Given the description of an element on the screen output the (x, y) to click on. 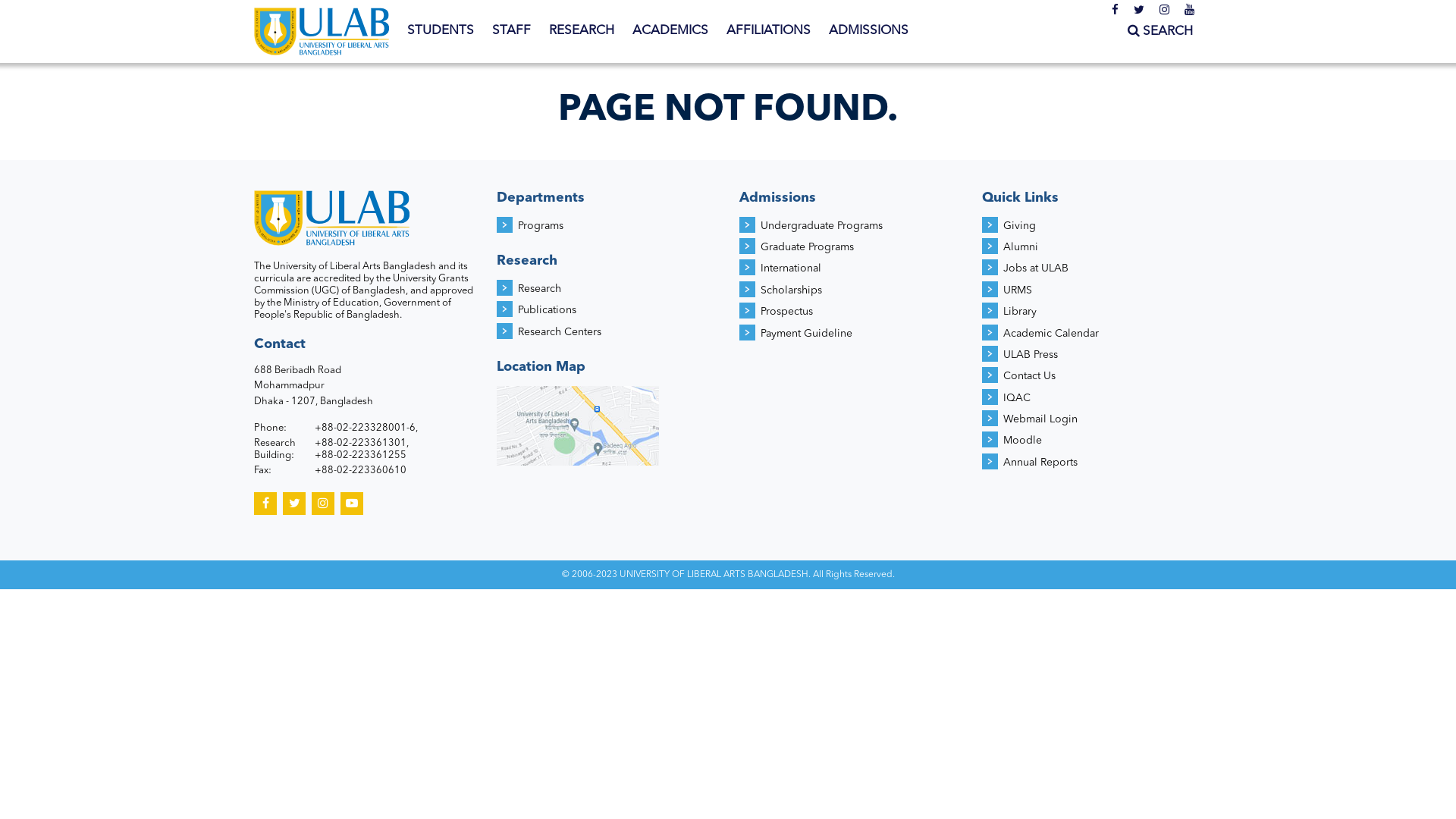
Alumni Element type: text (1020, 246)
Webmail Login Element type: text (1040, 419)
Academic Calendar Element type: text (1050, 333)
Research Centers Element type: text (559, 331)
Programs Element type: text (540, 225)
Payment Guideline Element type: text (806, 333)
IQAC Element type: text (1016, 397)
International Element type: text (790, 268)
ACADEMICS Element type: text (670, 30)
ADMISSIONS Element type: text (868, 30)
Giving Element type: text (1019, 225)
Annual Reports Element type: text (1040, 462)
Jobs at ULAB Element type: text (1035, 268)
Prospectus Element type: text (786, 311)
SEARCH Element type: text (1159, 31)
Undergraduate Programs Element type: text (821, 225)
Scholarships Element type: text (791, 290)
RESEARCH Element type: text (581, 30)
Skip to main content Element type: text (61, 0)
URMS Element type: text (1017, 290)
Contact Us Element type: text (1029, 375)
Research Element type: text (539, 288)
AFFILIATIONS Element type: text (768, 30)
Library Element type: text (1019, 311)
Graduate Programs Element type: text (806, 246)
Moodle Element type: text (1022, 440)
STAFF Element type: text (511, 30)
ULAB Press Element type: text (1030, 354)
Publications Element type: text (546, 309)
STUDENTS Element type: text (440, 30)
